Given the description of an element on the screen output the (x, y) to click on. 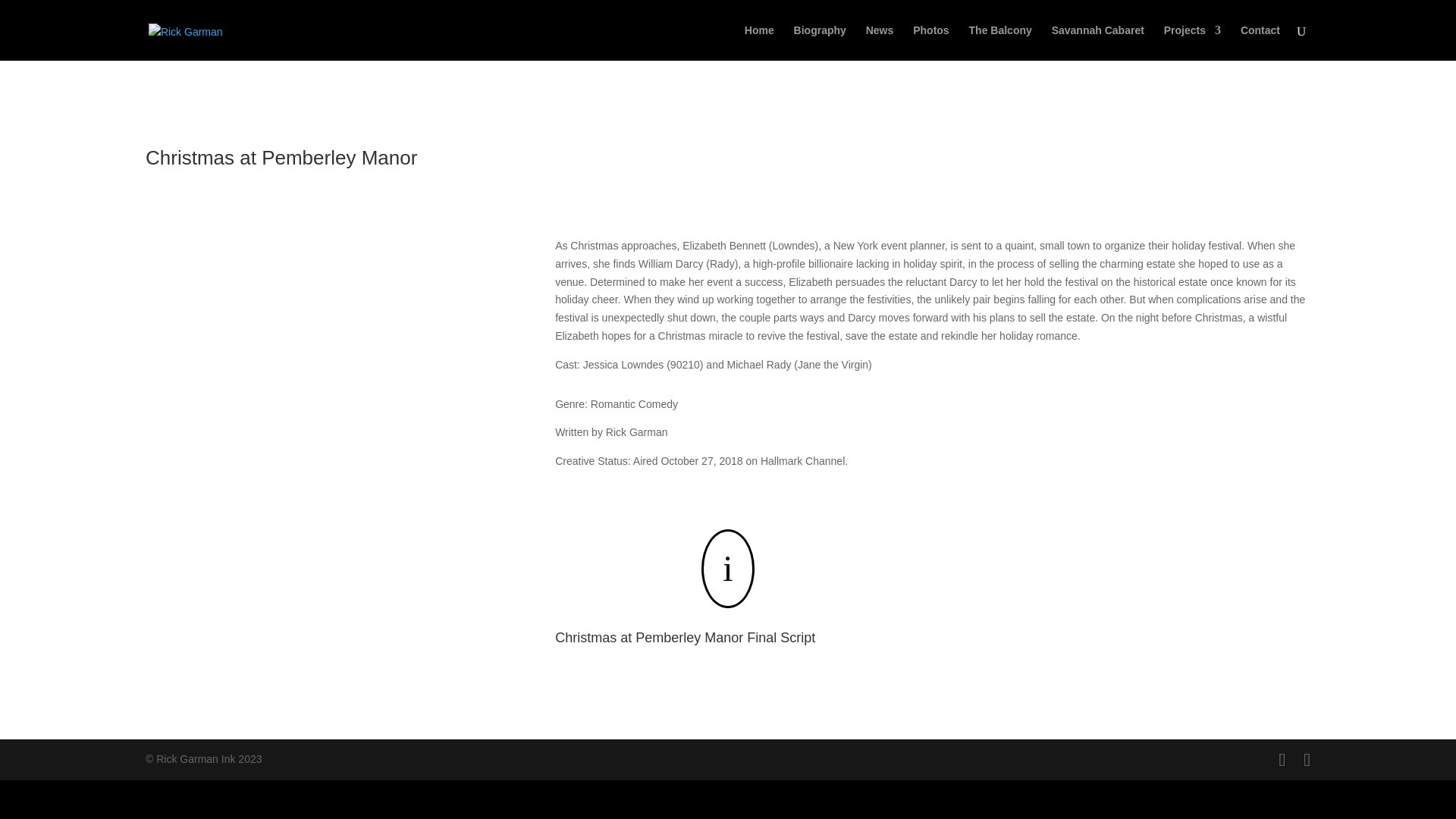
Christmas at Pemberley Manor Final Script (684, 637)
Contact (1259, 42)
Savannah Cabaret (1097, 42)
Projects (1192, 42)
Photos (930, 42)
Biography (819, 42)
The Balcony (1000, 42)
